Given the description of an element on the screen output the (x, y) to click on. 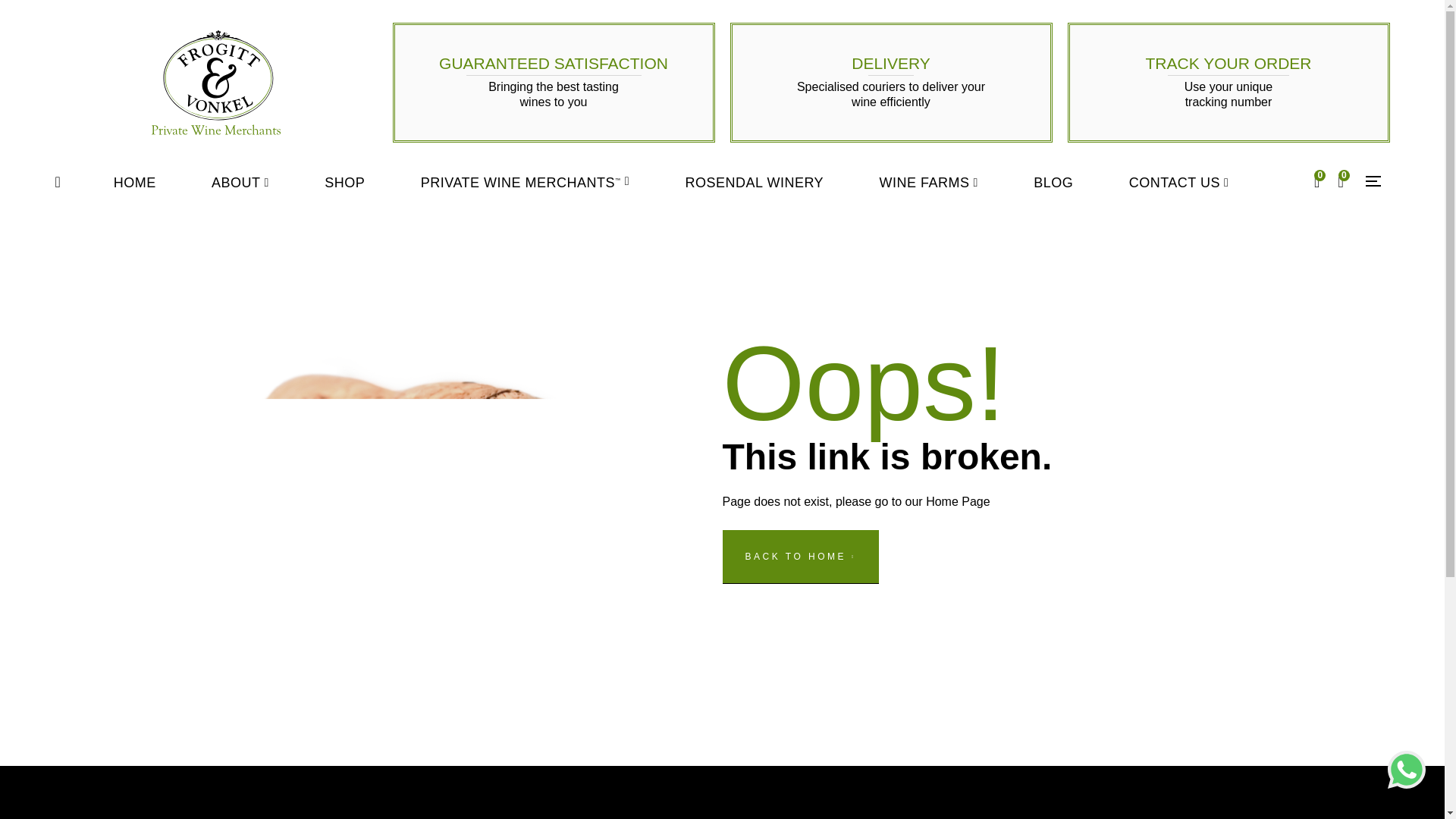
SHOP (344, 182)
WINE FARMS (928, 182)
ABOUT (240, 182)
HOME (134, 182)
BLOG (1053, 182)
CONTACT US (1177, 182)
ROSENDAL WINERY (753, 182)
BACK TO HOME (799, 556)
